Given the description of an element on the screen output the (x, y) to click on. 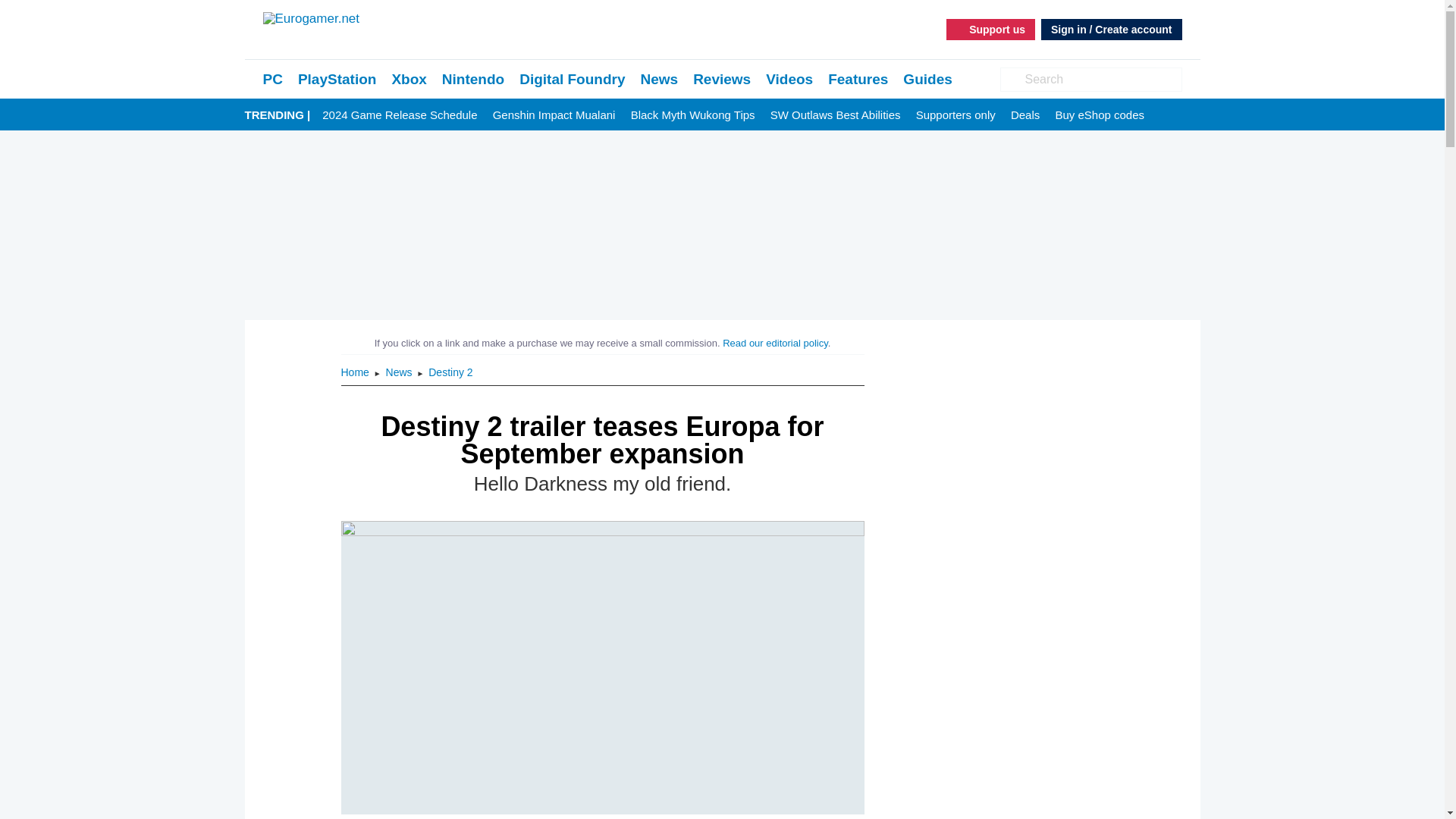
Home (356, 372)
News (399, 372)
PlayStation (336, 78)
Supporters only (955, 114)
Destiny 2 (449, 372)
Home (356, 372)
Videos (788, 78)
Genshin Impact Mualani (554, 114)
2024 Game Release Schedule (399, 114)
2024 Game Release Schedule (399, 114)
